Given the description of an element on the screen output the (x, y) to click on. 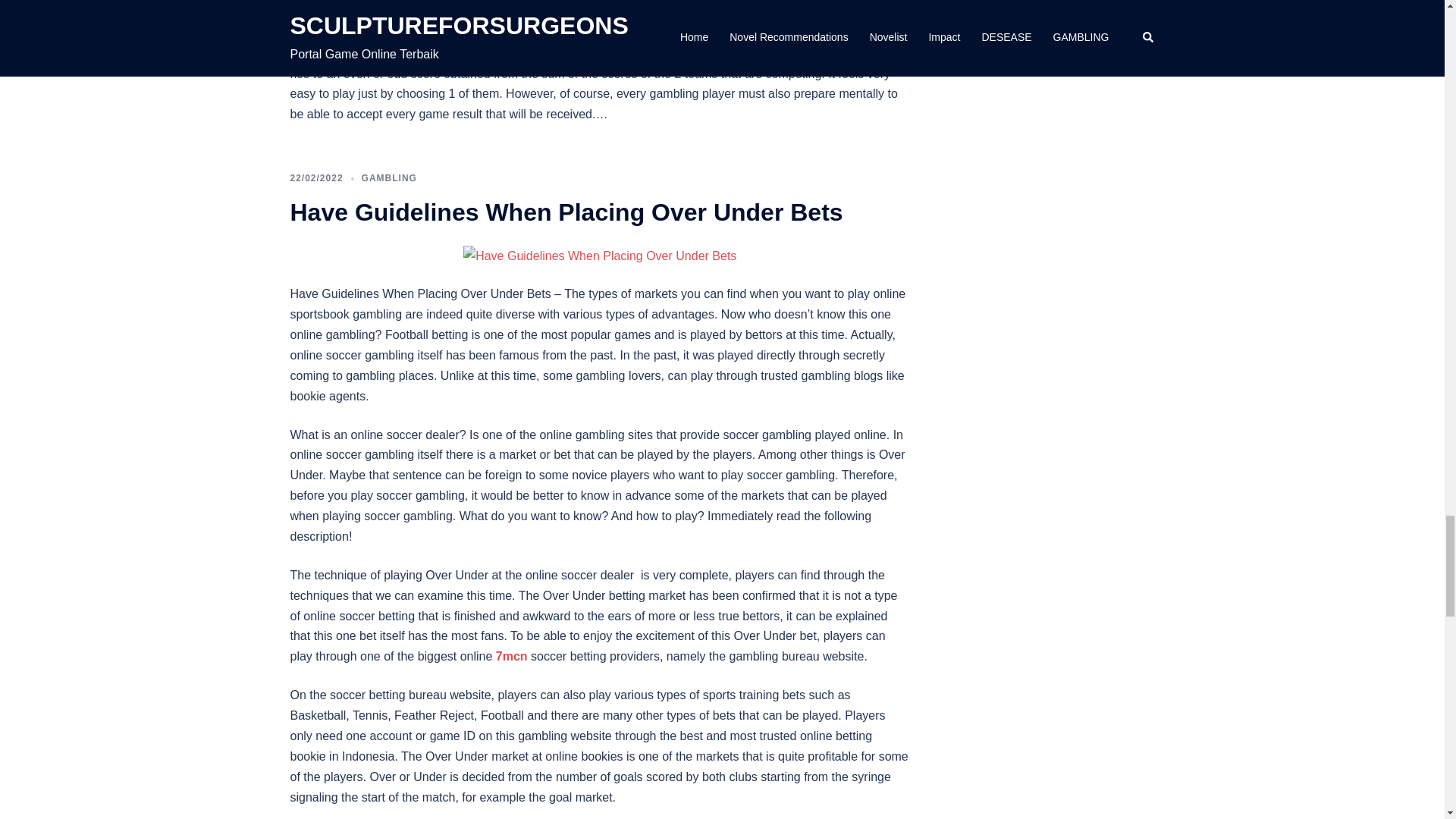
Have Guidelines When Placing Over Under Bets (566, 212)
GAMBLING (388, 177)
Have Guidelines When Placing Over Under Bets (599, 254)
